Given the description of an element on the screen output the (x, y) to click on. 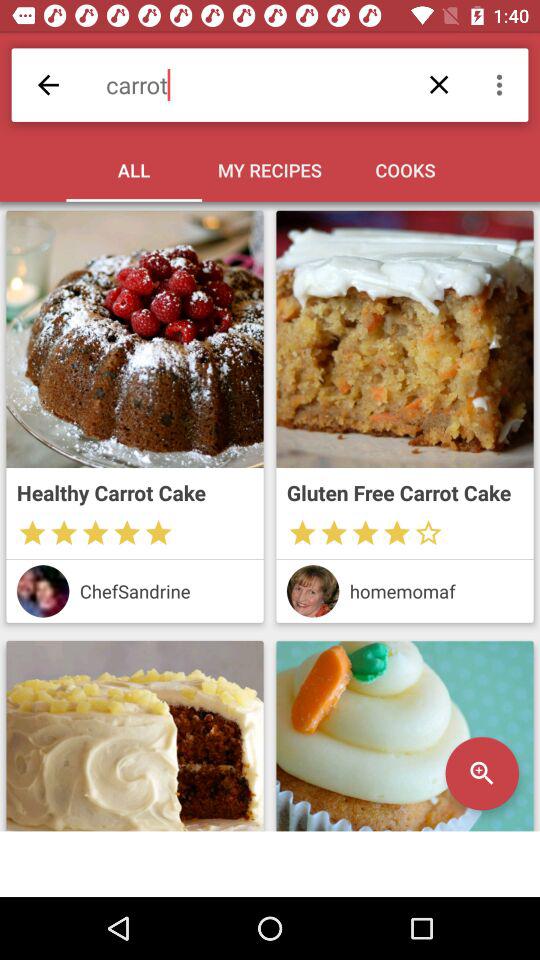
open recipe (404, 735)
